Given the description of an element on the screen output the (x, y) to click on. 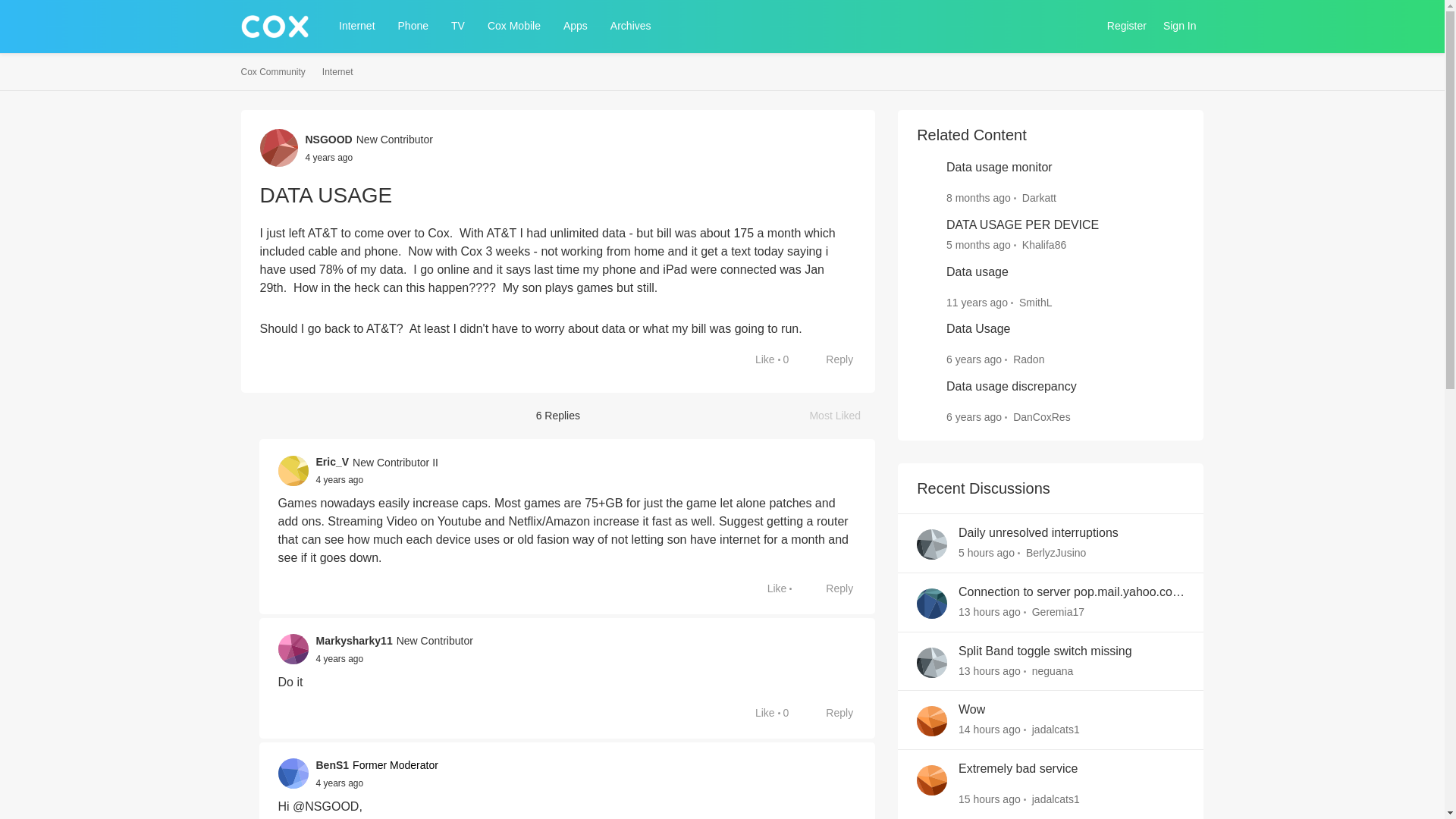
Reply (831, 588)
Markysharky11 (353, 641)
February 8, 2021 at 9:02 PM (328, 156)
January 15, 2024 at 10:04 PM (978, 197)
Sign In (1180, 26)
Skip to content (291, 60)
Data usage (977, 272)
Daily unresolved interruptions (1038, 533)
December 29, 2013 at 4:09 AM (976, 301)
NSGOOD (328, 139)
